Given the description of an element on the screen output the (x, y) to click on. 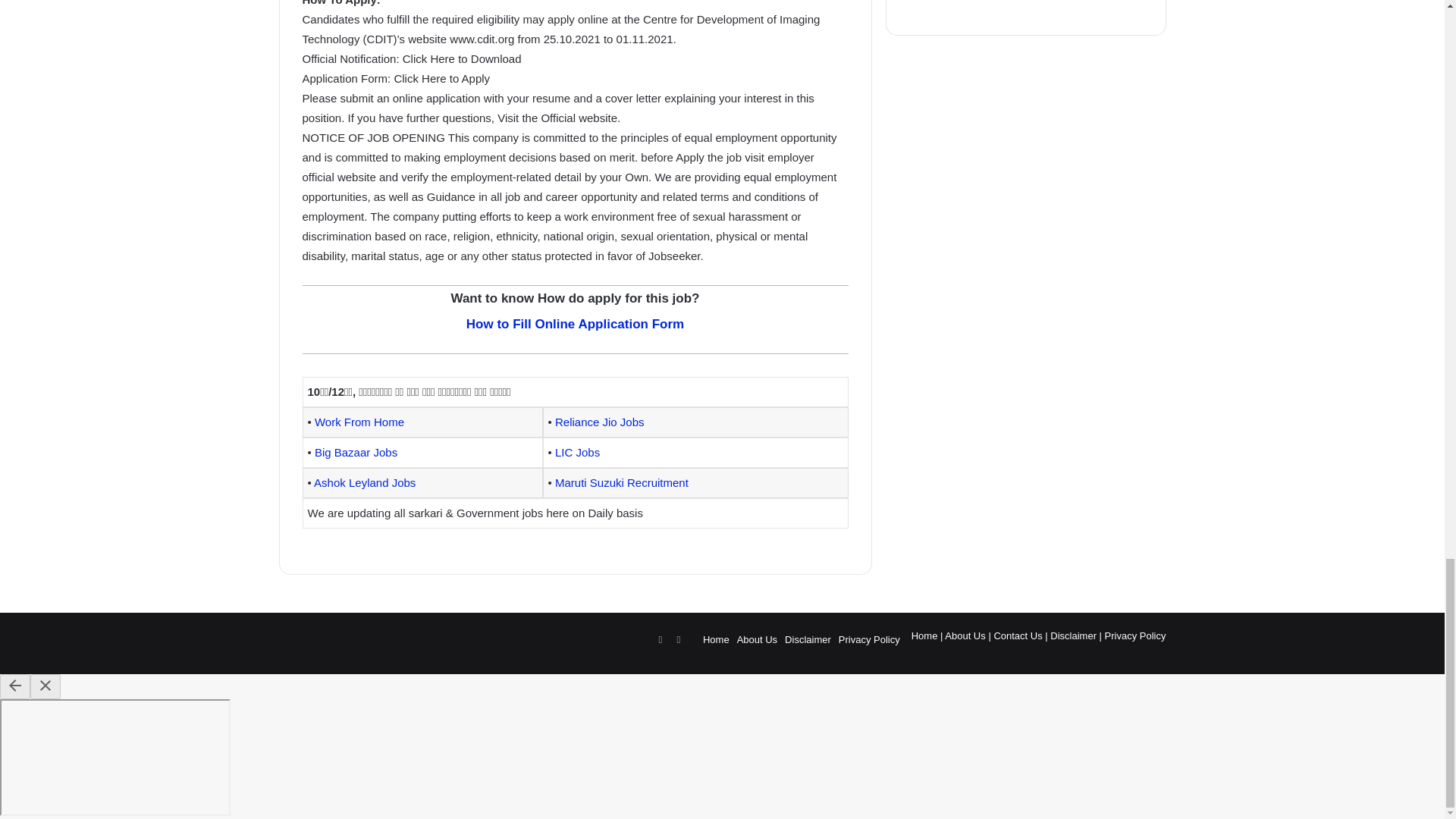
Big Bazaar Jobs (355, 451)
Reliance Jio Jobs (599, 421)
Maruti Suzuki Recruitment (621, 481)
Ashok Leyland Jobs (364, 481)
Work From Home (359, 421)
How to Fill Online Application Form (574, 323)
LIC Jobs (576, 451)
